Given the description of an element on the screen output the (x, y) to click on. 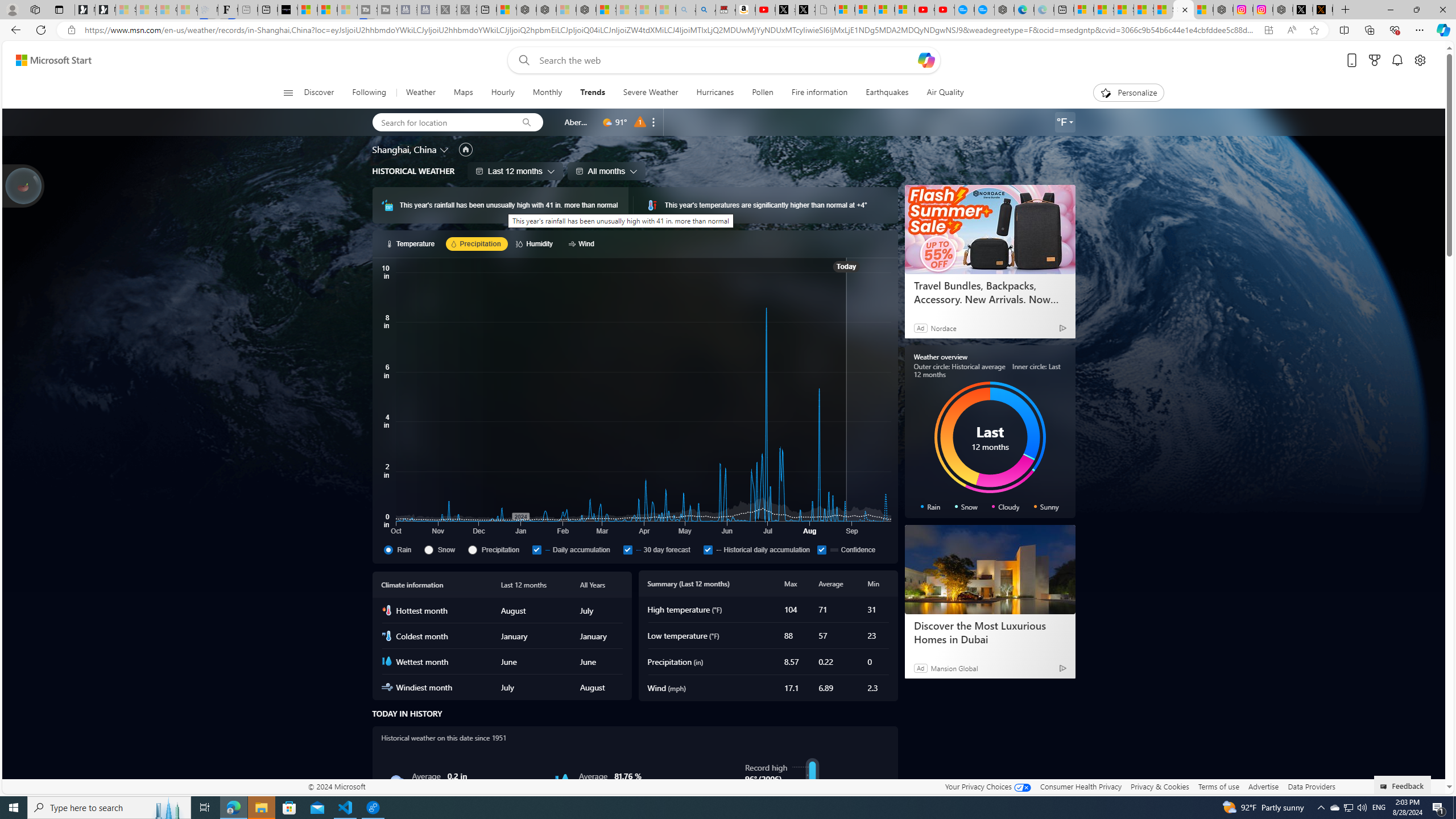
Confidence (851, 549)
Privacy & Cookies (1160, 786)
Air Quality (944, 92)
Join us in planting real trees to help our planet! (23, 184)
Discover the Most Luxurious Homes in Dubai (989, 569)
Temperature (411, 243)
Data Providers (1311, 785)
Privacy & Cookies (1160, 785)
Wind (582, 243)
